Given the description of an element on the screen output the (x, y) to click on. 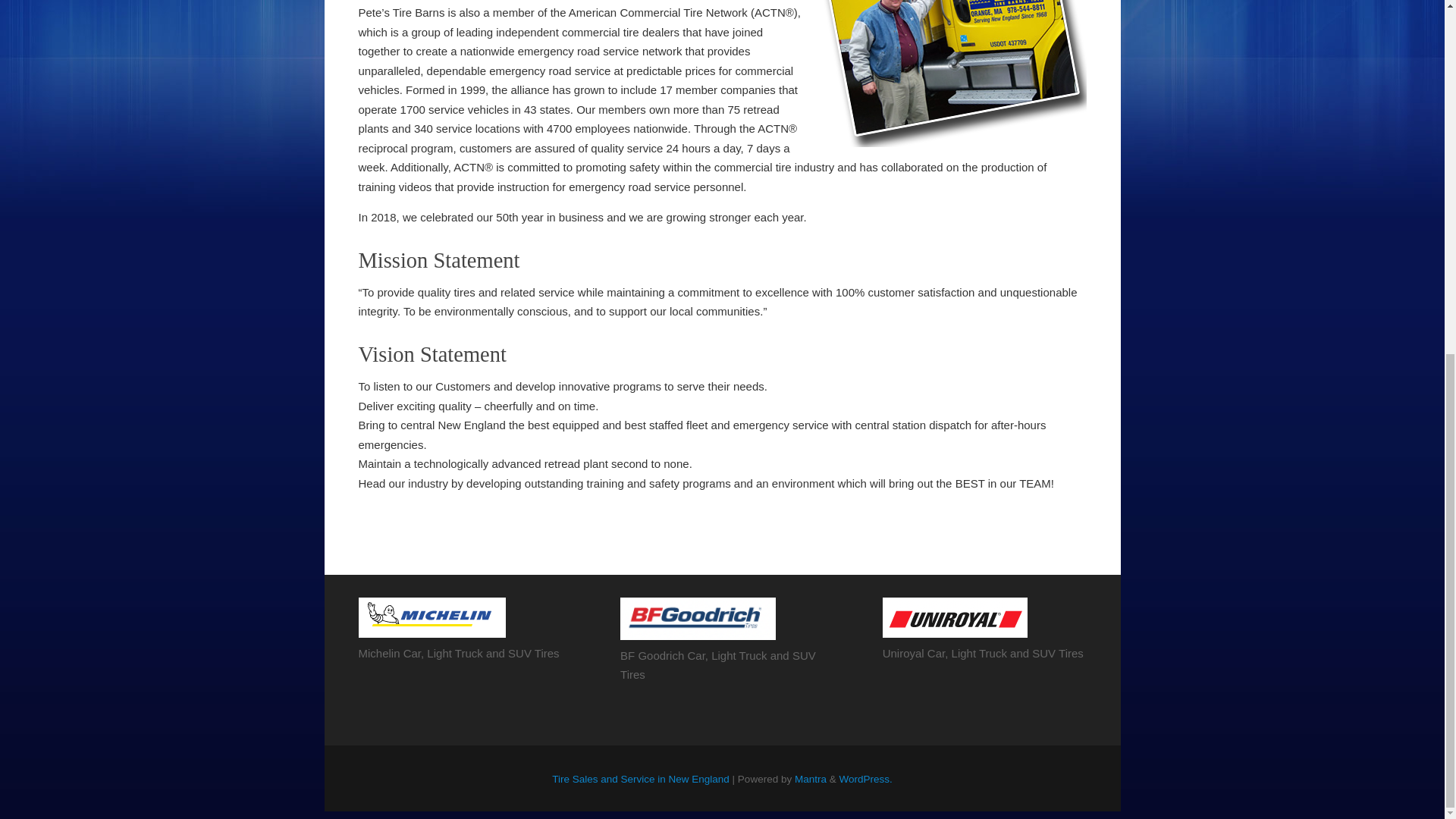
Tire Sales and Service in New England (640, 778)
Learn about Pete's Tire Barns  (953, 73)
Mantra Theme by Cryout Creations (810, 778)
Semantic Personal Publishing Platform (864, 778)
